Given the description of an element on the screen output the (x, y) to click on. 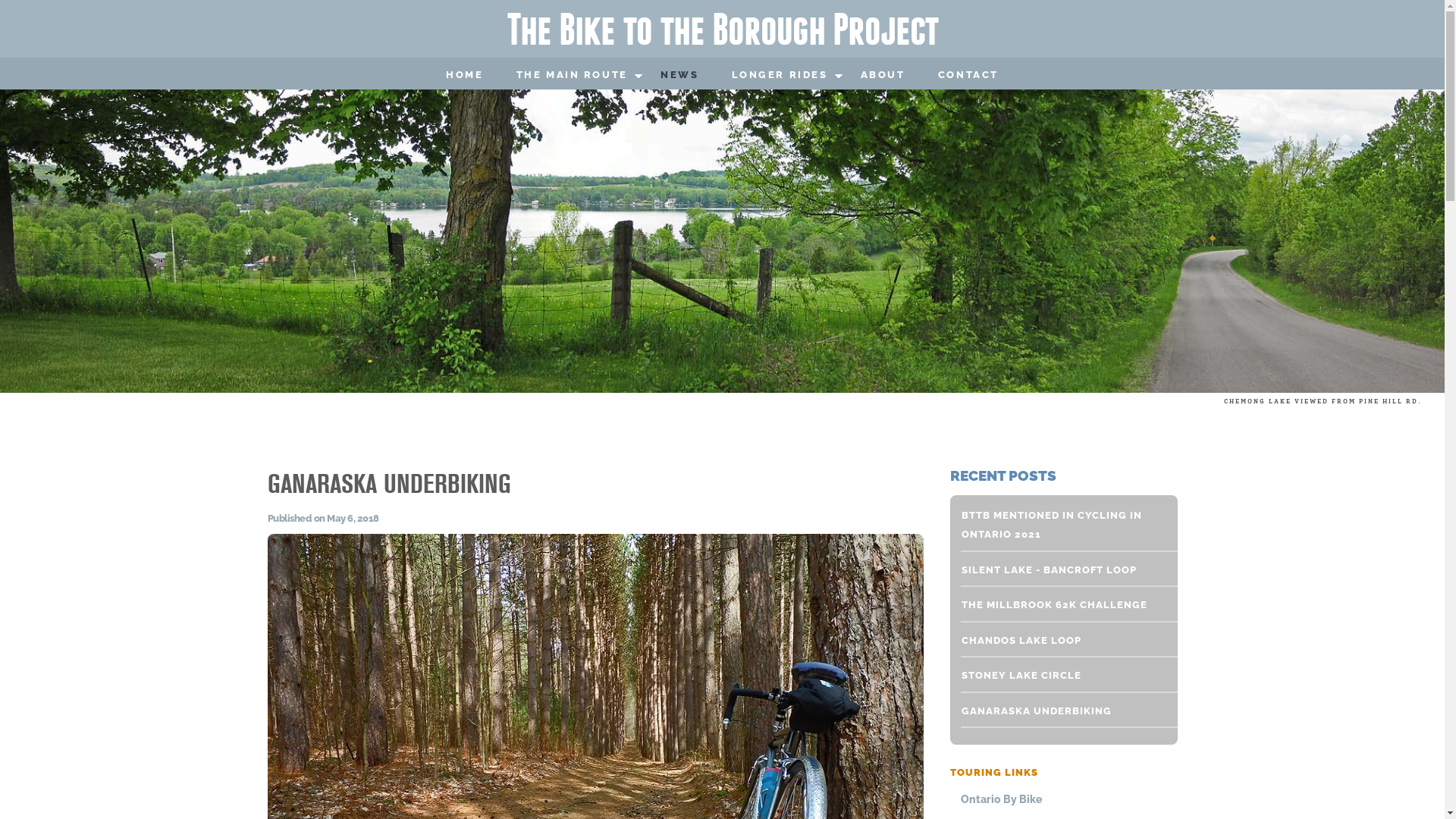
GANARASKA UNDERBIKING Element type: text (388, 485)
BTTB MENTIONED IN CYCLING IN ONTARIO 2021 Element type: text (1060, 525)
Ontario By Bike Element type: text (1064, 799)
ABOUT Element type: text (882, 75)
HOME Element type: text (464, 75)
LONGER RIDES Element type: text (779, 75)
SILENT LAKE - BANCROFT LOOP Element type: text (1060, 569)
THE MILLBROOK 62K CHALLENGE Element type: text (1060, 604)
CHANDOS LAKE LOOP Element type: text (1060, 640)
THE MAIN ROUTE Element type: text (571, 75)
STONEY LAKE CIRCLE Element type: text (1060, 675)
CONTACT Element type: text (968, 75)
GANARASKA UNDERBIKING Element type: text (1060, 710)
NEWS Element type: text (679, 75)
